Given the description of an element on the screen output the (x, y) to click on. 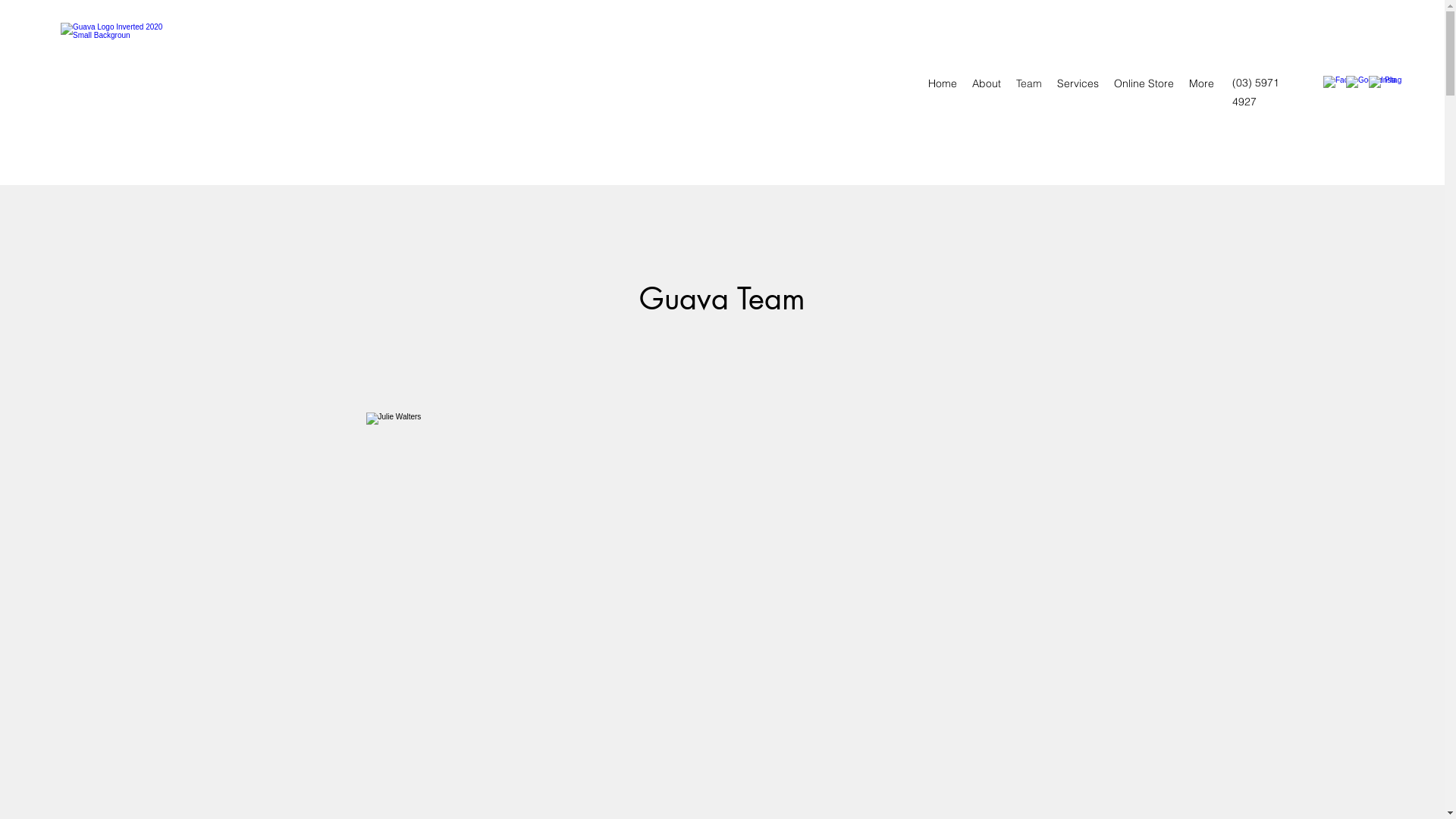
Online Store Element type: text (1143, 83)
Home Element type: text (942, 83)
Services Element type: text (1077, 83)
Team Element type: text (1028, 83)
About Element type: text (986, 83)
